Given the description of an element on the screen output the (x, y) to click on. 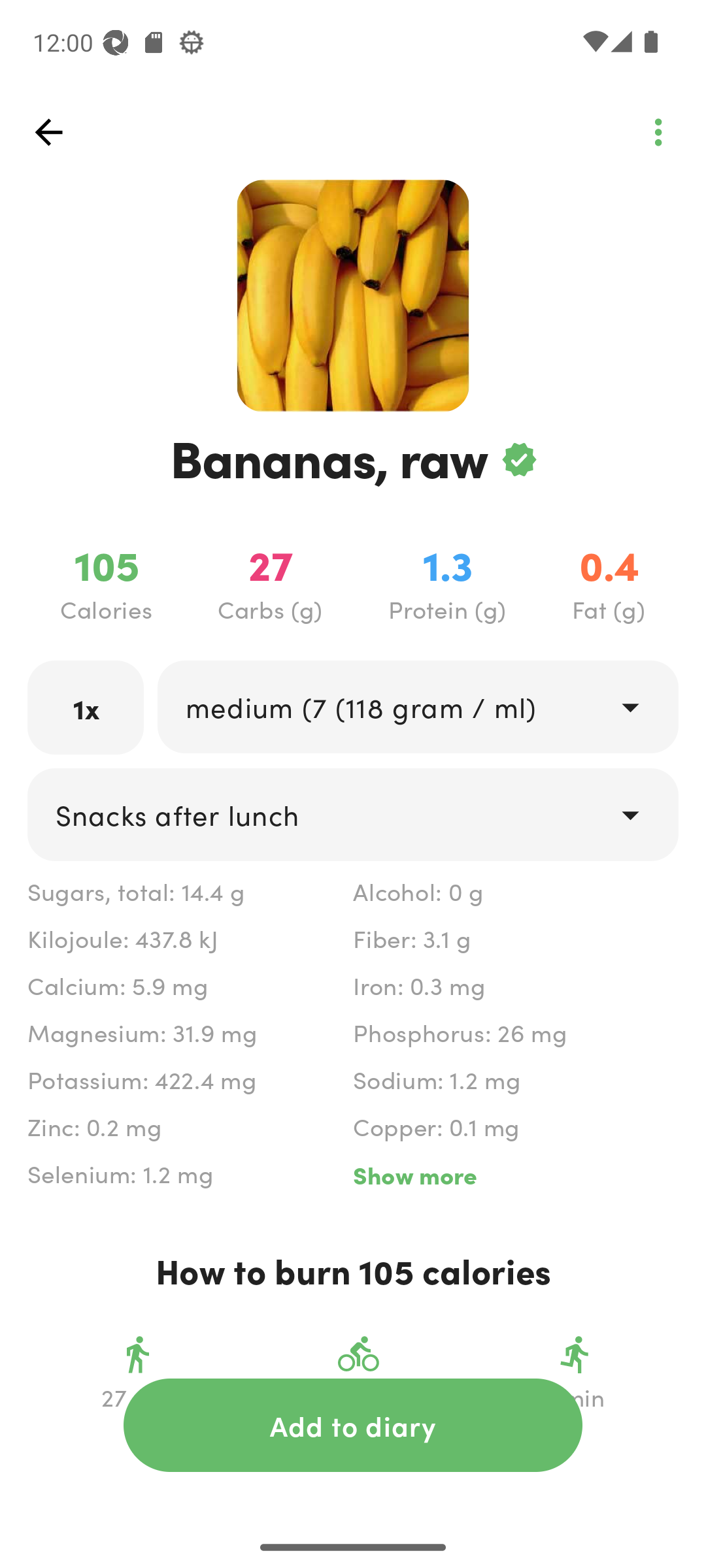
top_left_action (48, 132)
top_left_action (658, 132)
1x labeled_edit_text (85, 707)
drop_down medium (7 (118 gram / ml) (417, 706)
drop_down Snacks after lunch (352, 814)
Show more (515, 1174)
action_button Add to diary (352, 1425)
